Given the description of an element on the screen output the (x, y) to click on. 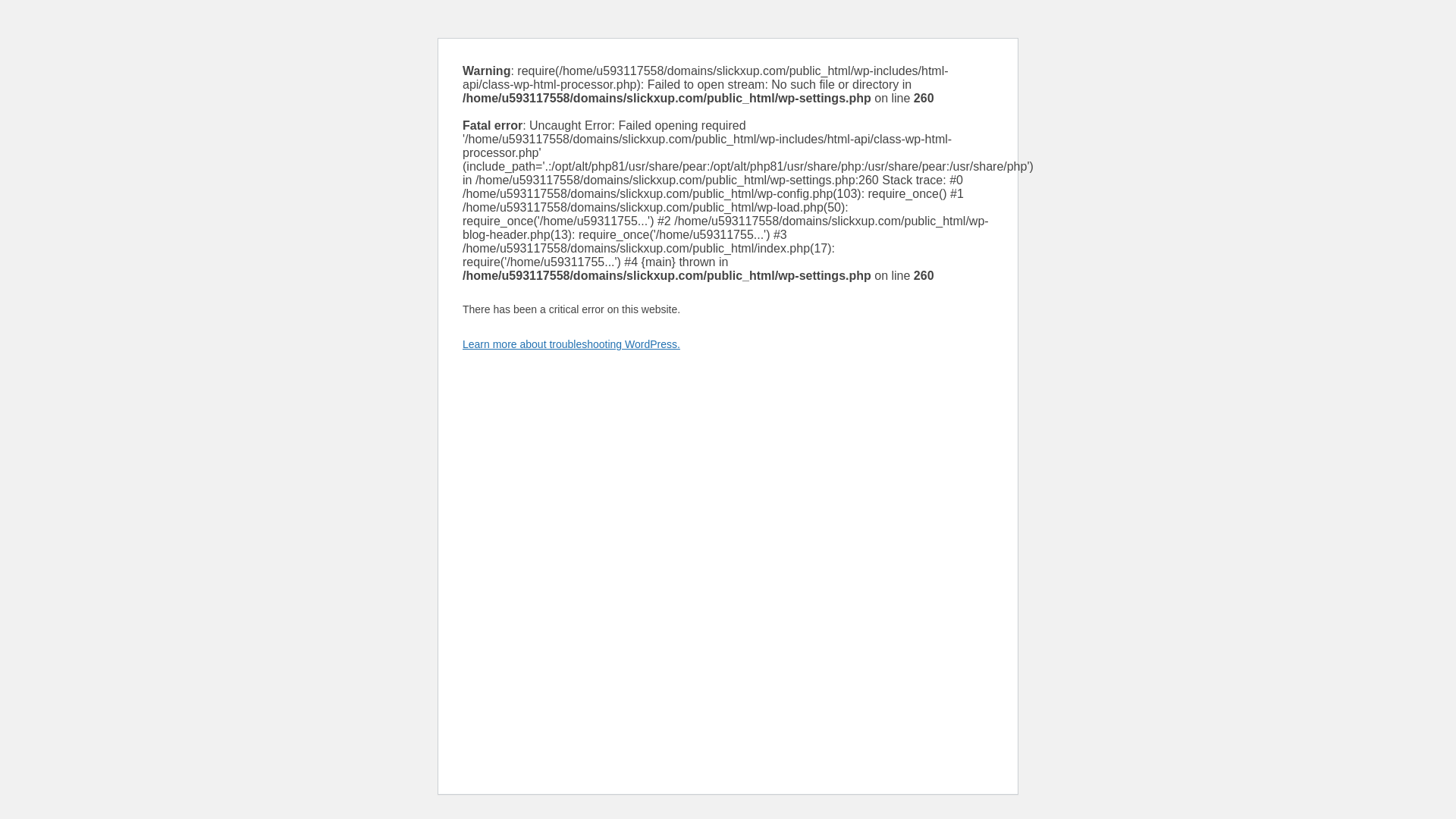
Learn more about troubleshooting WordPress. (571, 344)
